Given the description of an element on the screen output the (x, y) to click on. 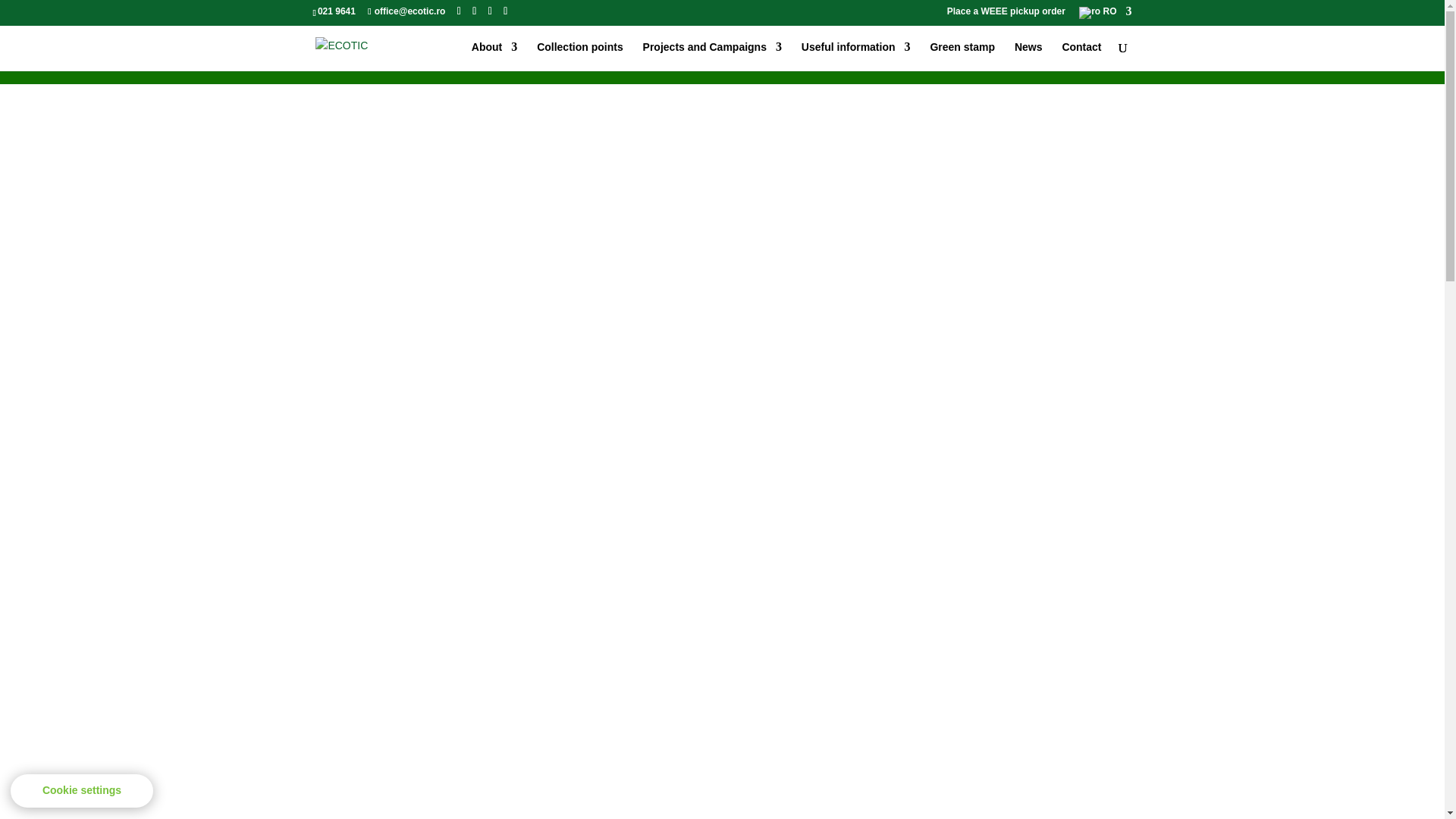
Projects and Campaigns (712, 56)
About (493, 56)
mega menu (856, 56)
Collection points (580, 56)
Place a WEEE pickup order (1006, 14)
RO (1104, 15)
